Given the description of an element on the screen output the (x, y) to click on. 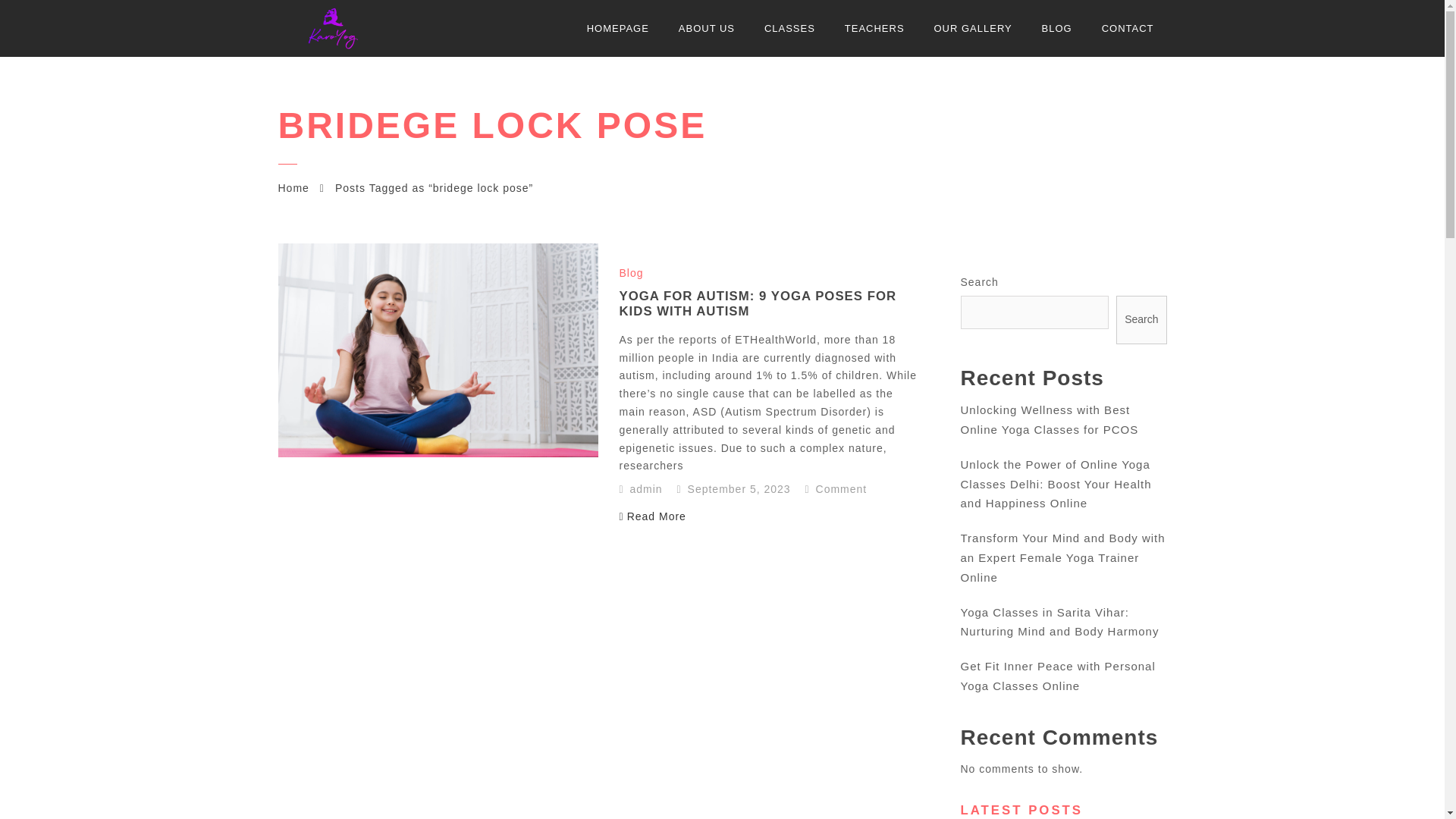
Get Fit Inner Peace with Personal Yoga Classes Online (1056, 676)
Comment (836, 489)
TEACHERS (874, 28)
Search (1141, 319)
Posts by admin (646, 489)
Home (293, 187)
Blog (630, 272)
CONTACT (1128, 28)
YOGA FOR AUTISM: 9 YOGA POSES FOR KIDS WITH AUTISM (757, 303)
CLASSES (789, 28)
HOMEPAGE (617, 28)
BLOG (1056, 28)
ABOUT US (706, 28)
OUR GALLERY (972, 28)
